Given the description of an element on the screen output the (x, y) to click on. 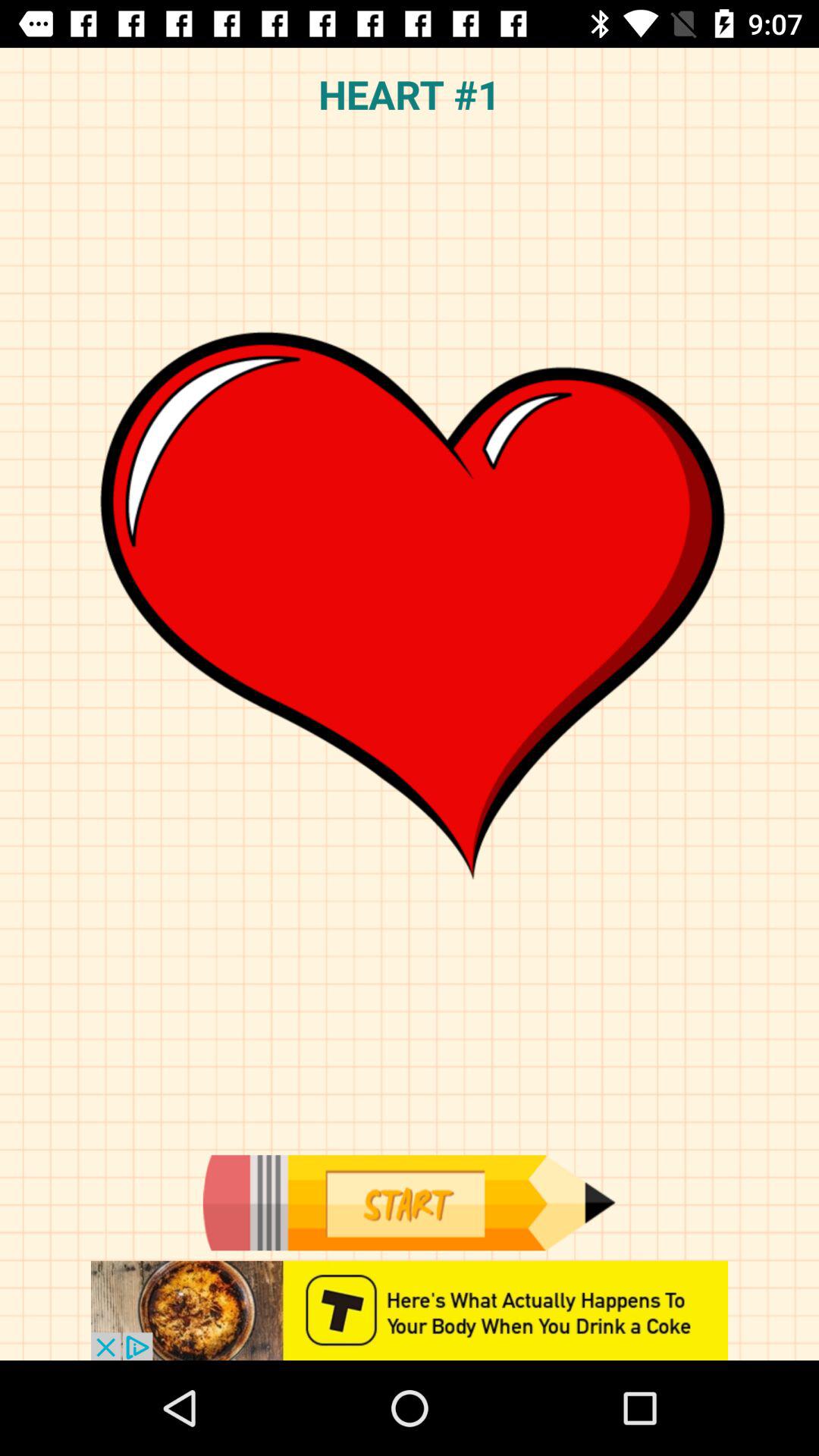
advertisement (409, 1310)
